Given the description of an element on the screen output the (x, y) to click on. 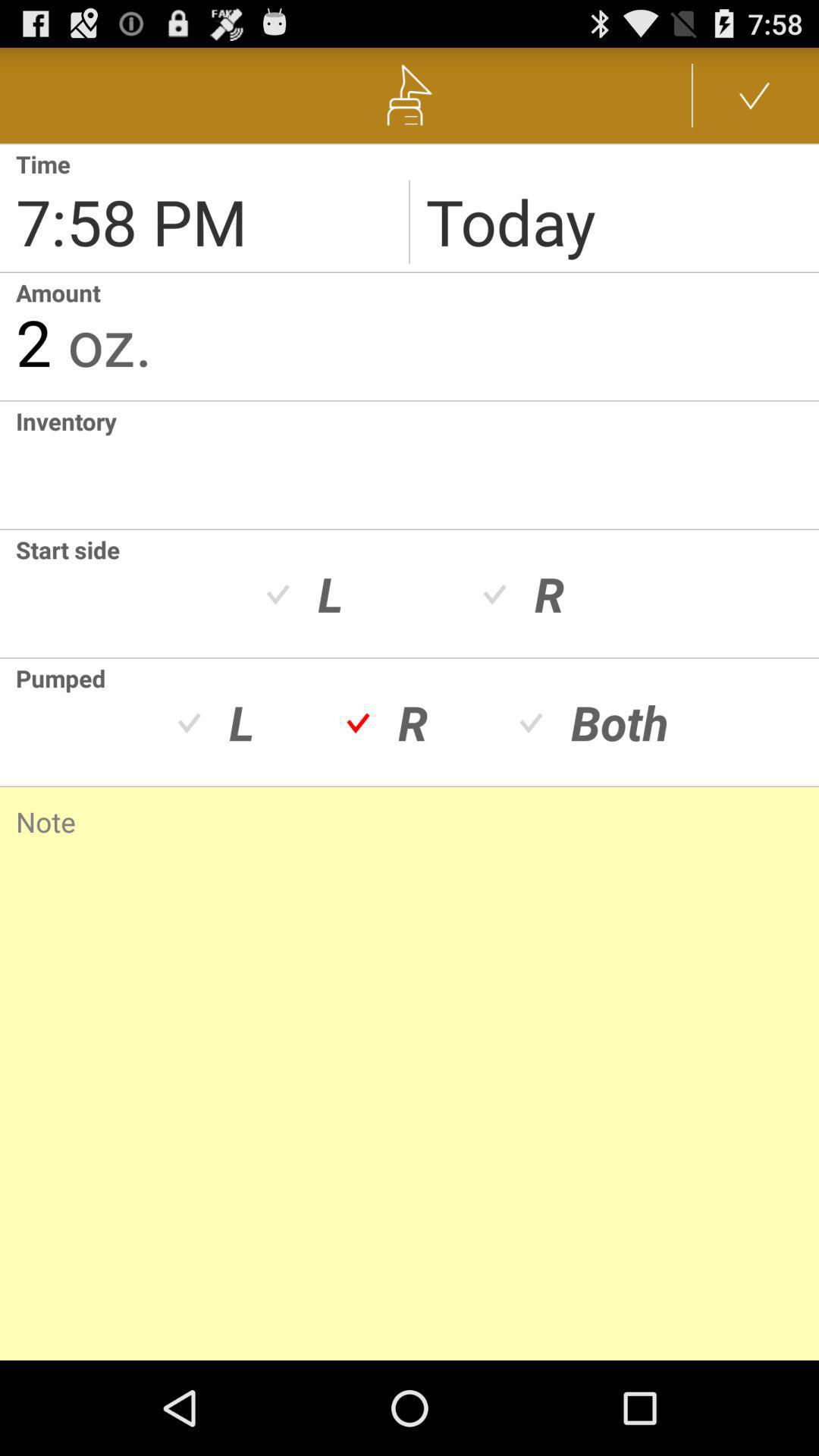
notes (409, 1053)
